Given the description of an element on the screen output the (x, y) to click on. 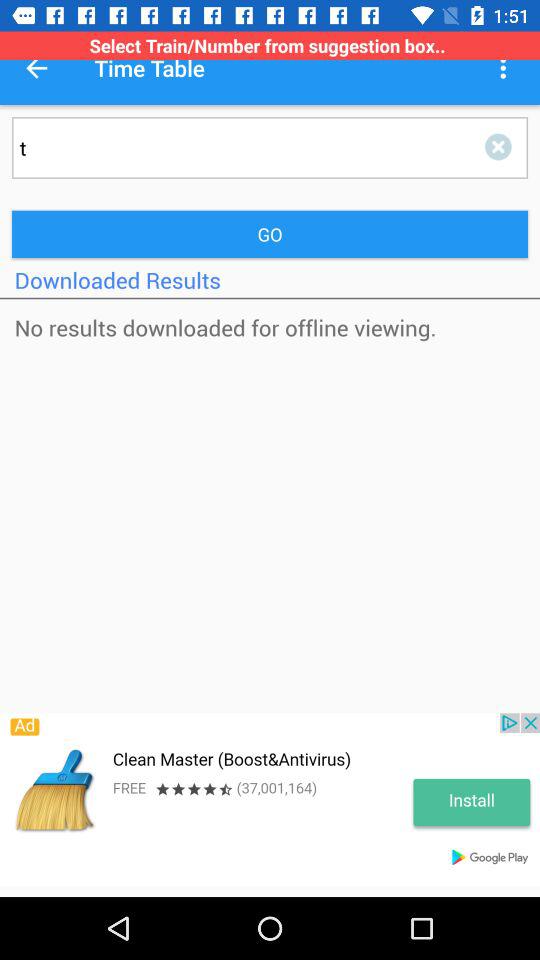
clear field (502, 147)
